Given the description of an element on the screen output the (x, y) to click on. 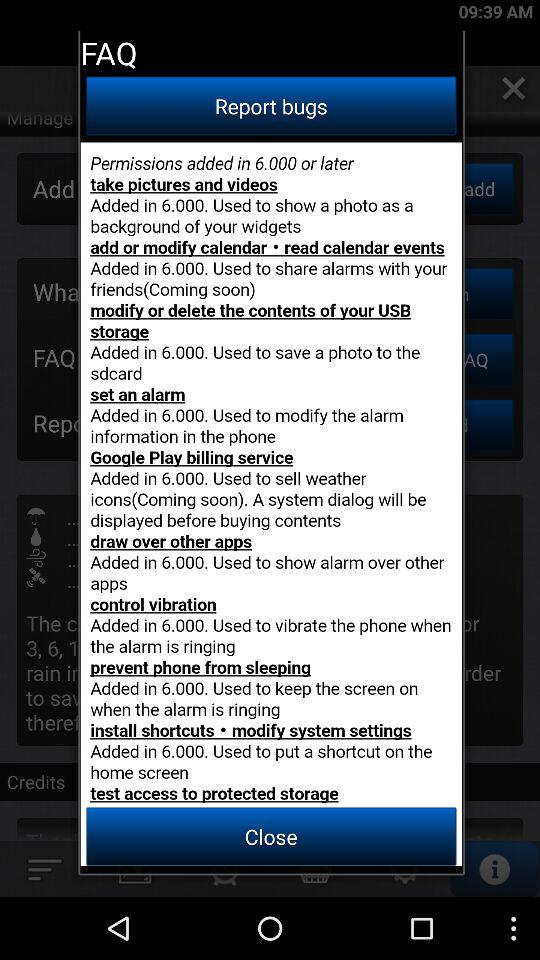
close button (271, 504)
